Given the description of an element on the screen output the (x, y) to click on. 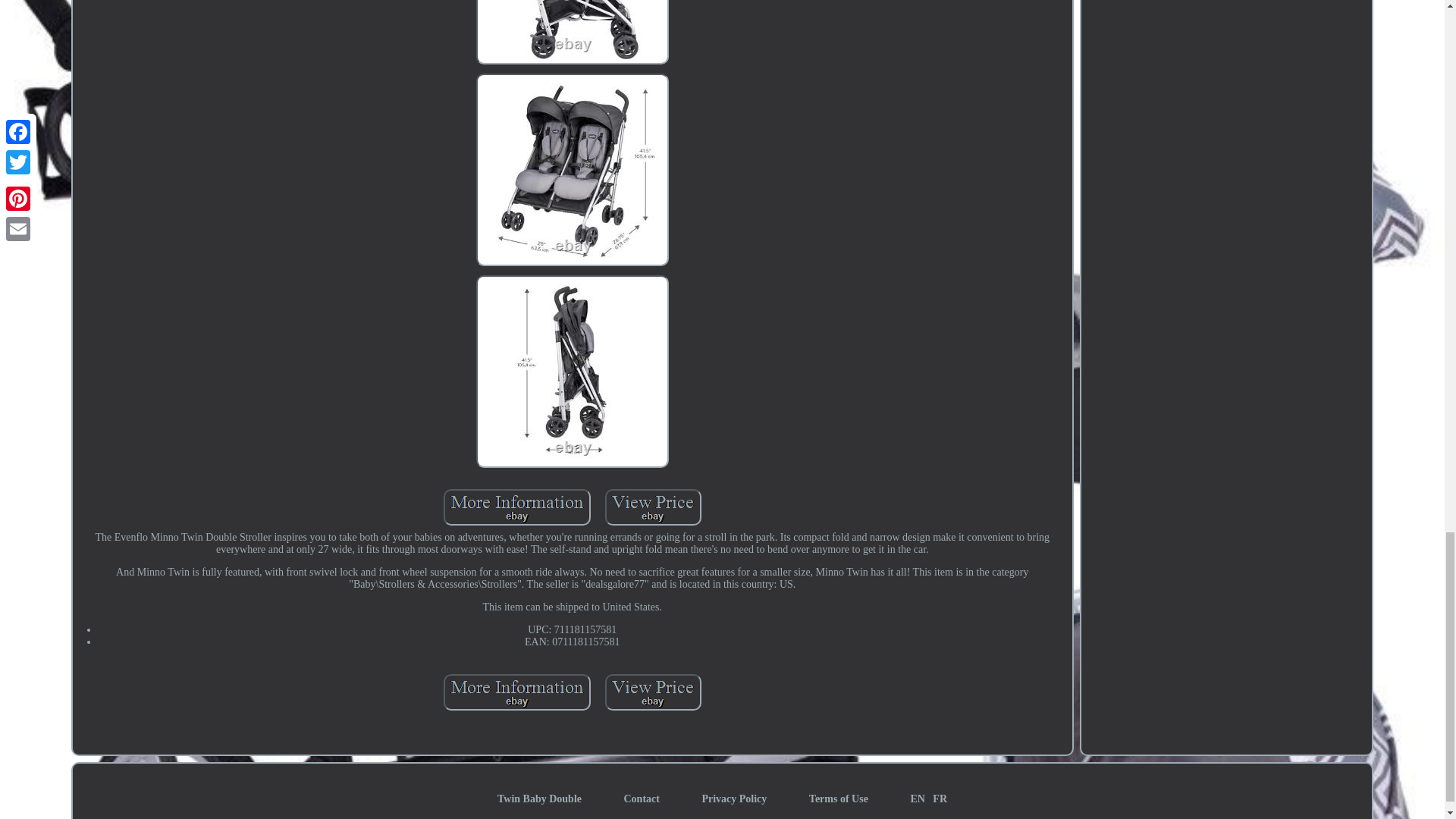
Evenflo Minno Twin Double Stroller, Glenbarr Gray (572, 371)
Evenflo Minno Twin Double Stroller, Glenbarr Gray (572, 32)
Evenflo Minno Twin Double Stroller, Glenbarr Gray (653, 506)
Evenflo Minno Twin Double Stroller, Glenbarr Gray (517, 506)
Evenflo Minno Twin Double Stroller, Glenbarr Gray (572, 169)
Evenflo Minno Twin Double Stroller, Glenbarr Gray (653, 692)
Evenflo Minno Twin Double Stroller, Glenbarr Gray (517, 692)
